Given the description of an element on the screen output the (x, y) to click on. 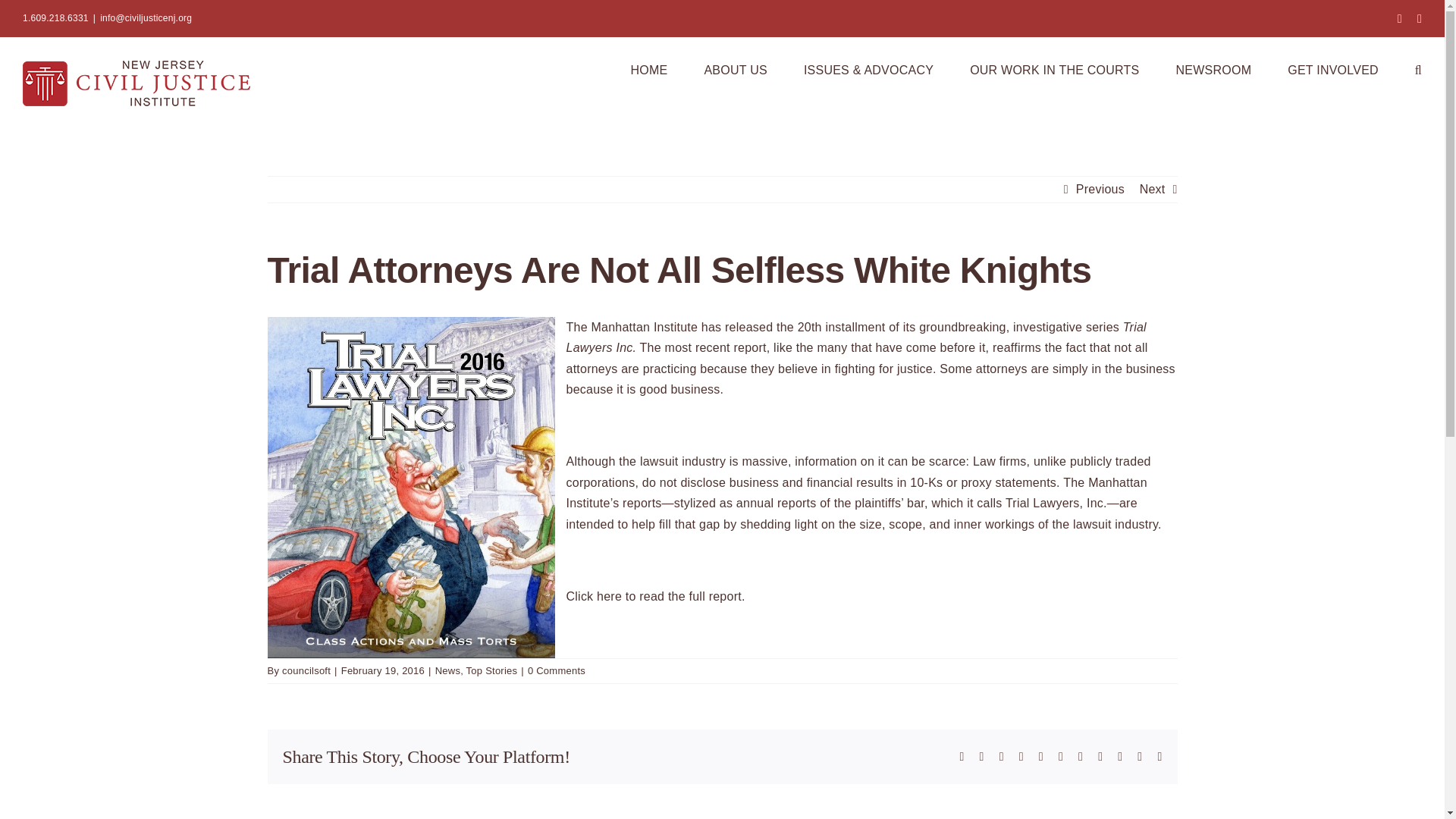
GET INVOLVED (1332, 68)
20th installment of its groundbreaking, investigative series (959, 327)
councilsoft (306, 670)
Previous (1099, 189)
Trial Lawyers Inc (855, 337)
Top Stories (491, 670)
NEWSROOM (1212, 68)
Click here to read the full report. (655, 595)
News (447, 670)
1.609.218.6331 (55, 18)
